Given the description of an element on the screen output the (x, y) to click on. 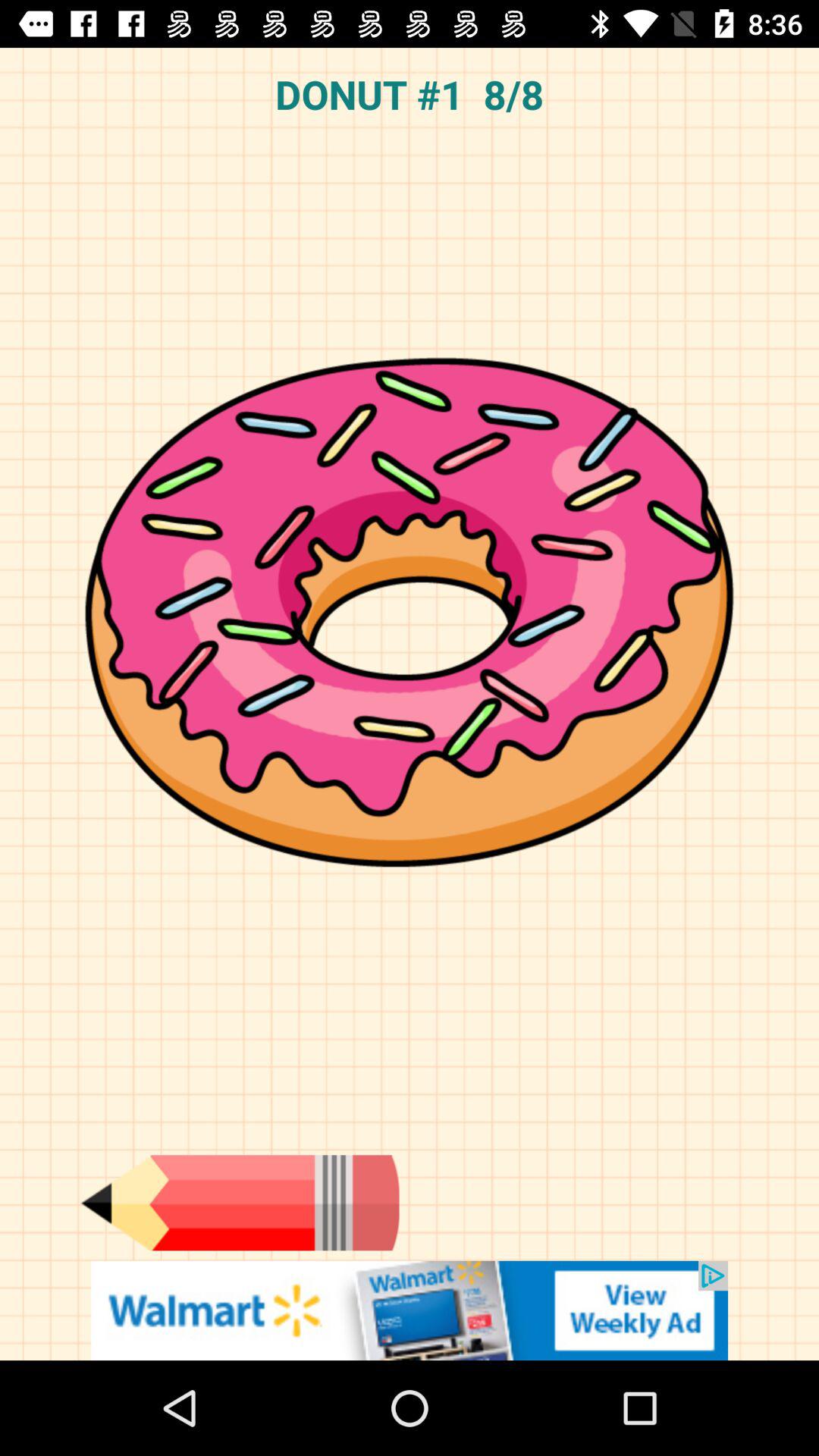
coloring stick (239, 1202)
